Given the description of an element on the screen output the (x, y) to click on. 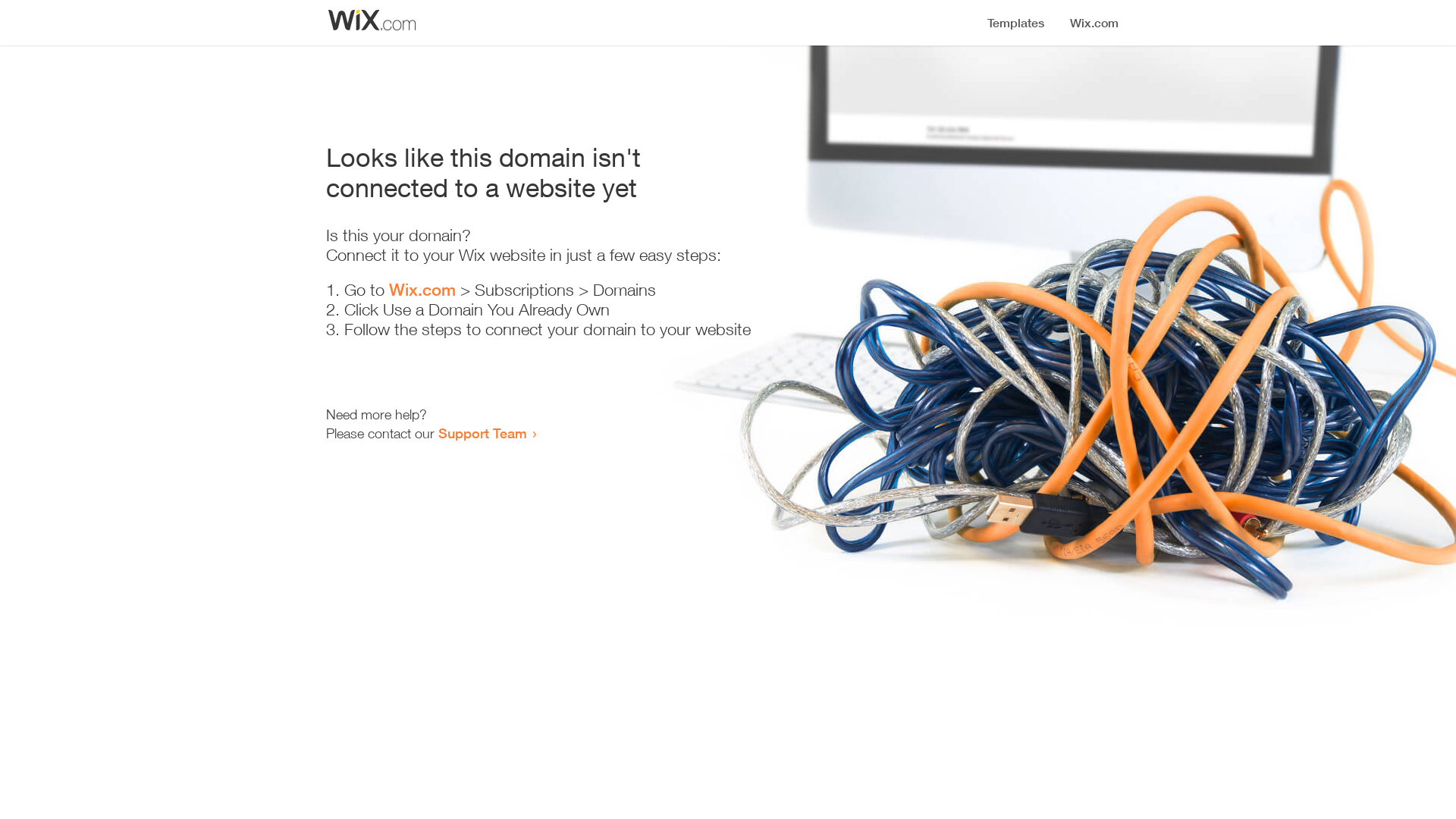
Support Team Element type: text (482, 432)
Wix.com Element type: text (422, 289)
